Given the description of an element on the screen output the (x, y) to click on. 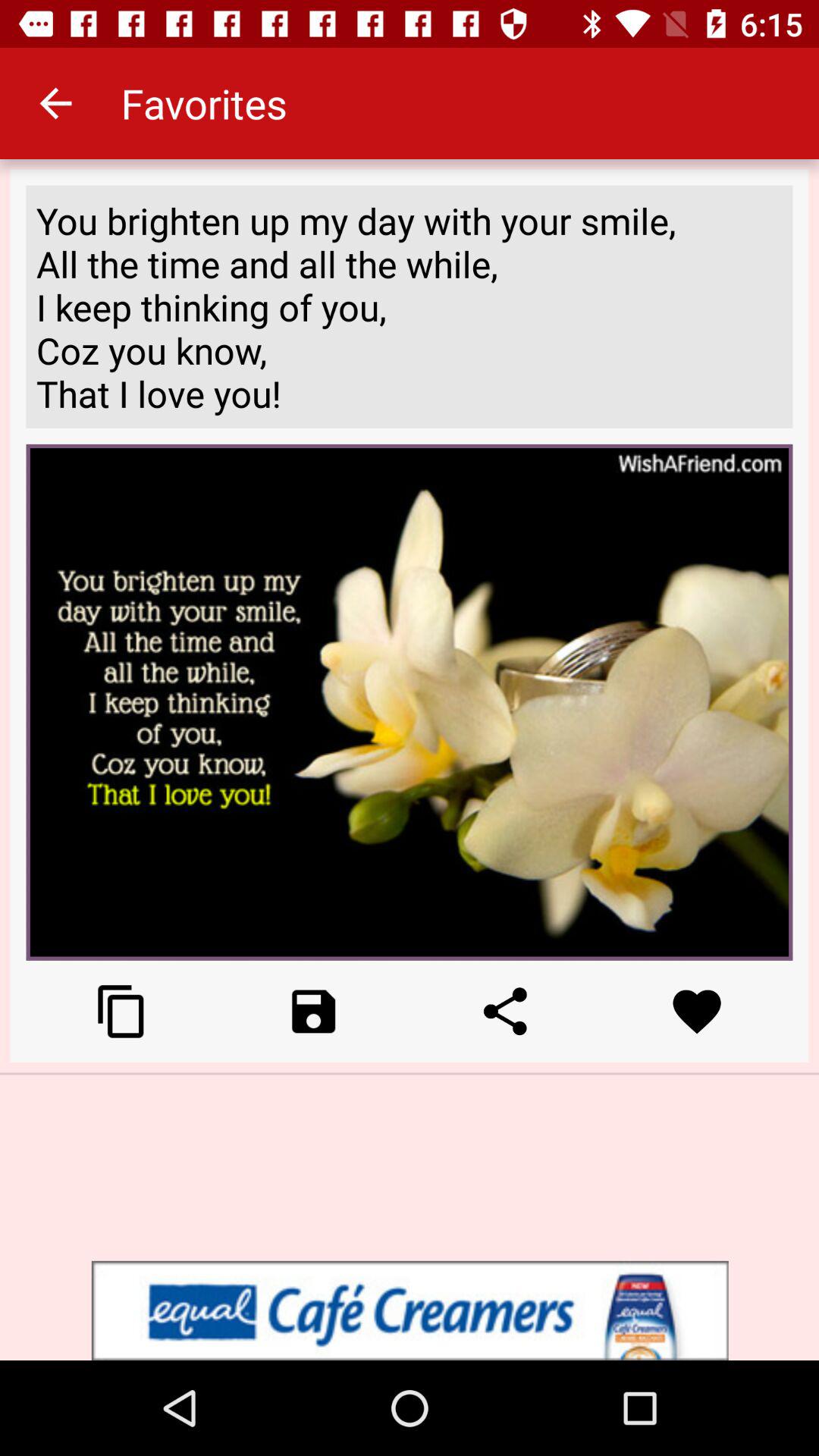
snap shot background (121, 1011)
